Given the description of an element on the screen output the (x, y) to click on. 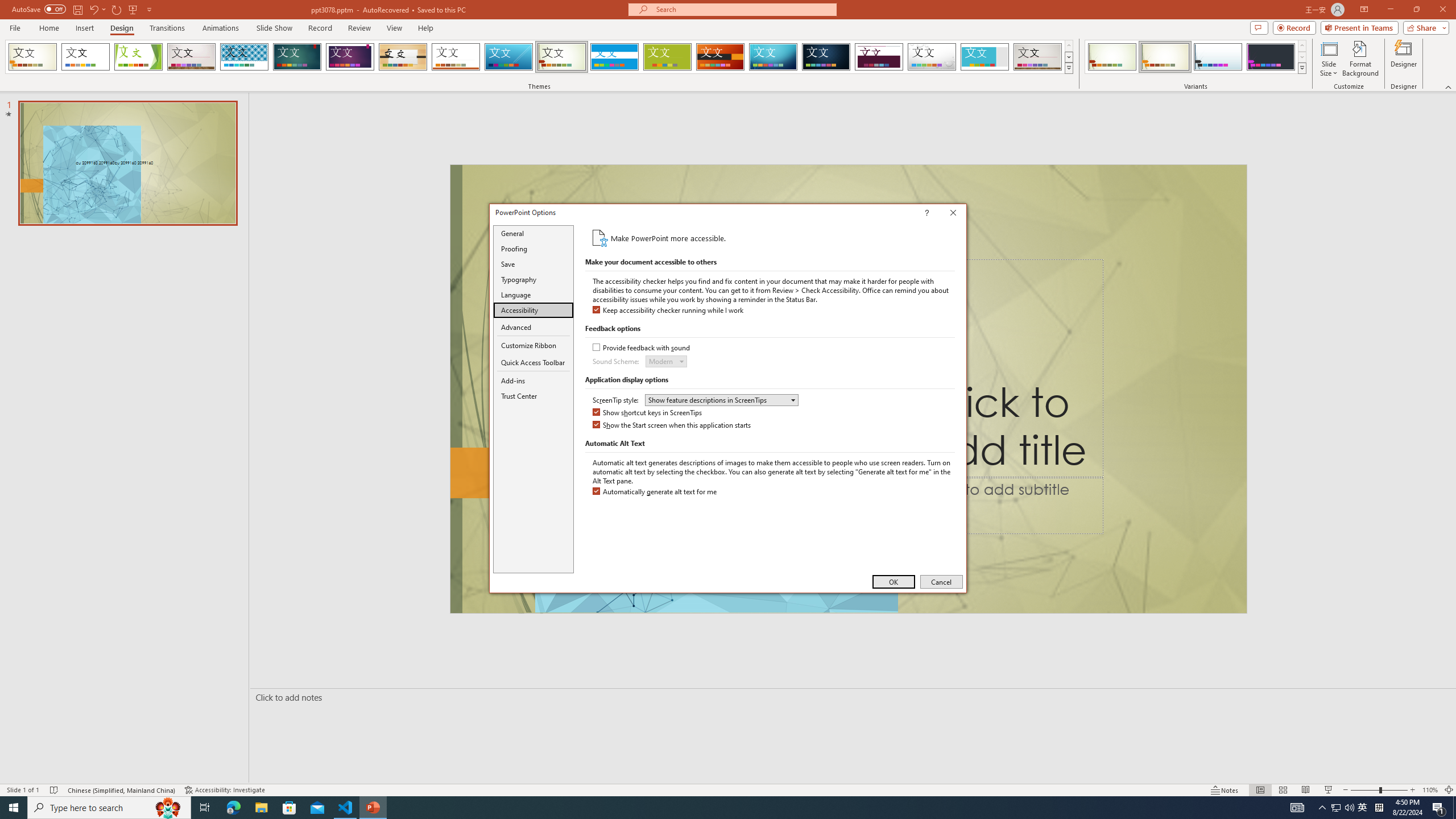
Zoom 110% (1430, 790)
Typography (533, 279)
Show the Start screen when this application starts (672, 425)
Trust Center (533, 395)
Advanced (533, 327)
